Given the description of an element on the screen output the (x, y) to click on. 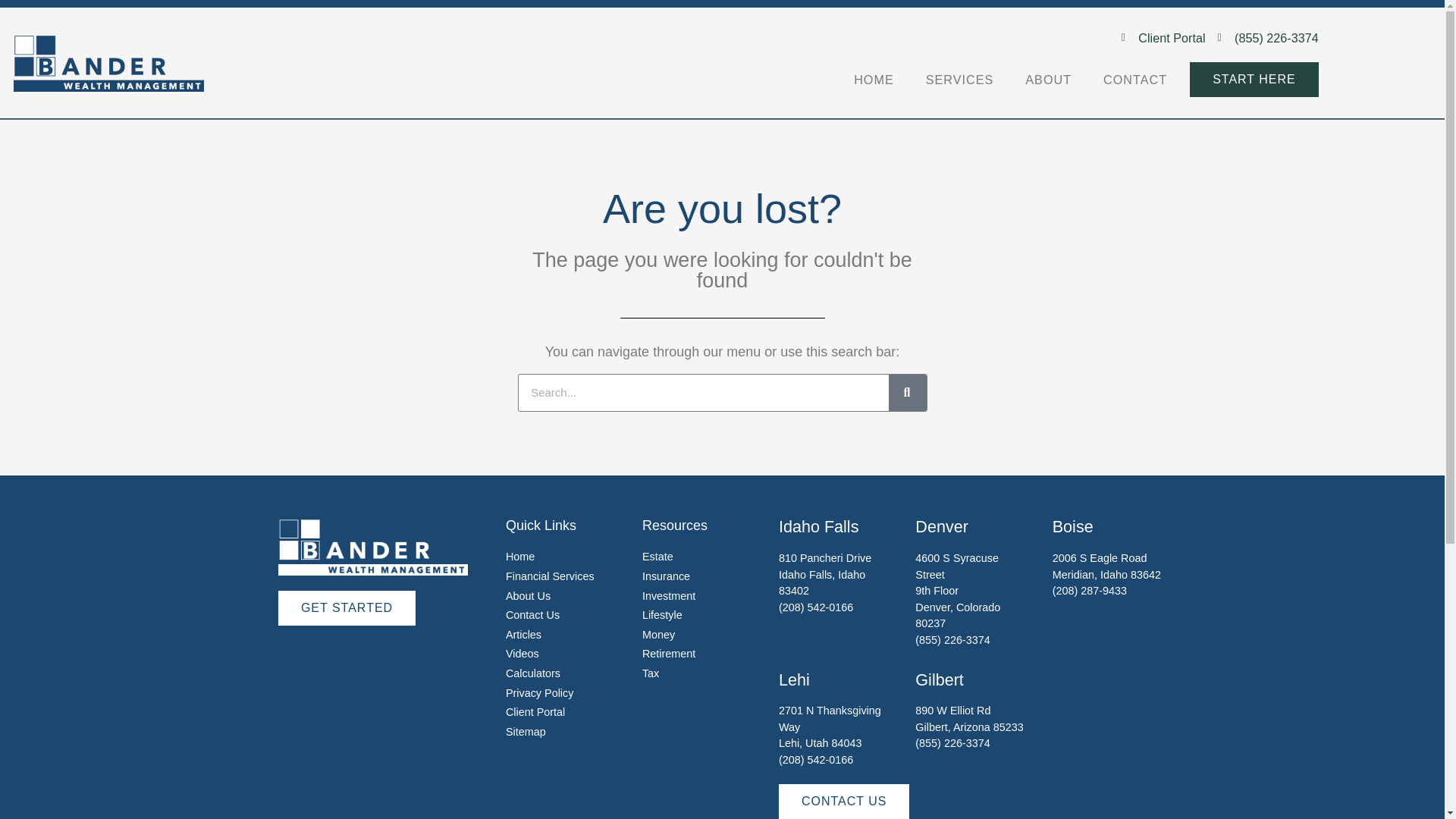
Articles (523, 634)
Client Portal (534, 711)
Investment (668, 595)
Insurance (666, 576)
Sitemap (525, 731)
CONTACT (1134, 79)
Lifestyle (662, 614)
Home (519, 556)
About Us (527, 595)
Financial Services (549, 576)
Privacy Policy (539, 693)
Contact Us (532, 614)
logo (108, 63)
GET STARTED (346, 607)
SERVICES (960, 79)
